Given the description of an element on the screen output the (x, y) to click on. 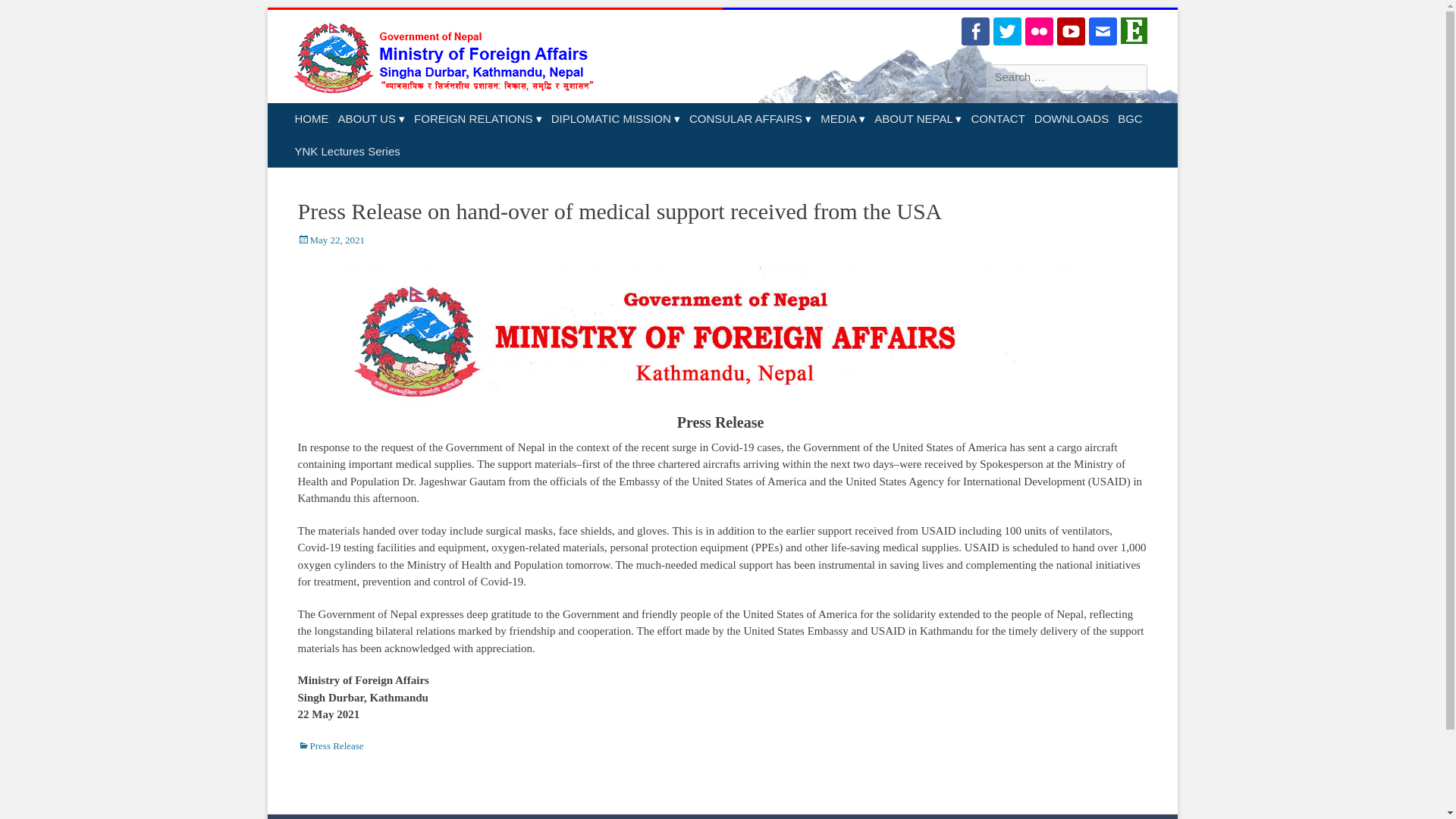
Twitter (1007, 31)
Email (1102, 31)
DIPLOMATIC MISSION (615, 119)
Email (1102, 31)
CONSULAR AFFAIRS (749, 119)
Twitter (1007, 31)
HOME (311, 119)
FOREIGN RELATIONS (478, 119)
YouTube (1070, 31)
YouTube (1070, 31)
